Given the description of an element on the screen output the (x, y) to click on. 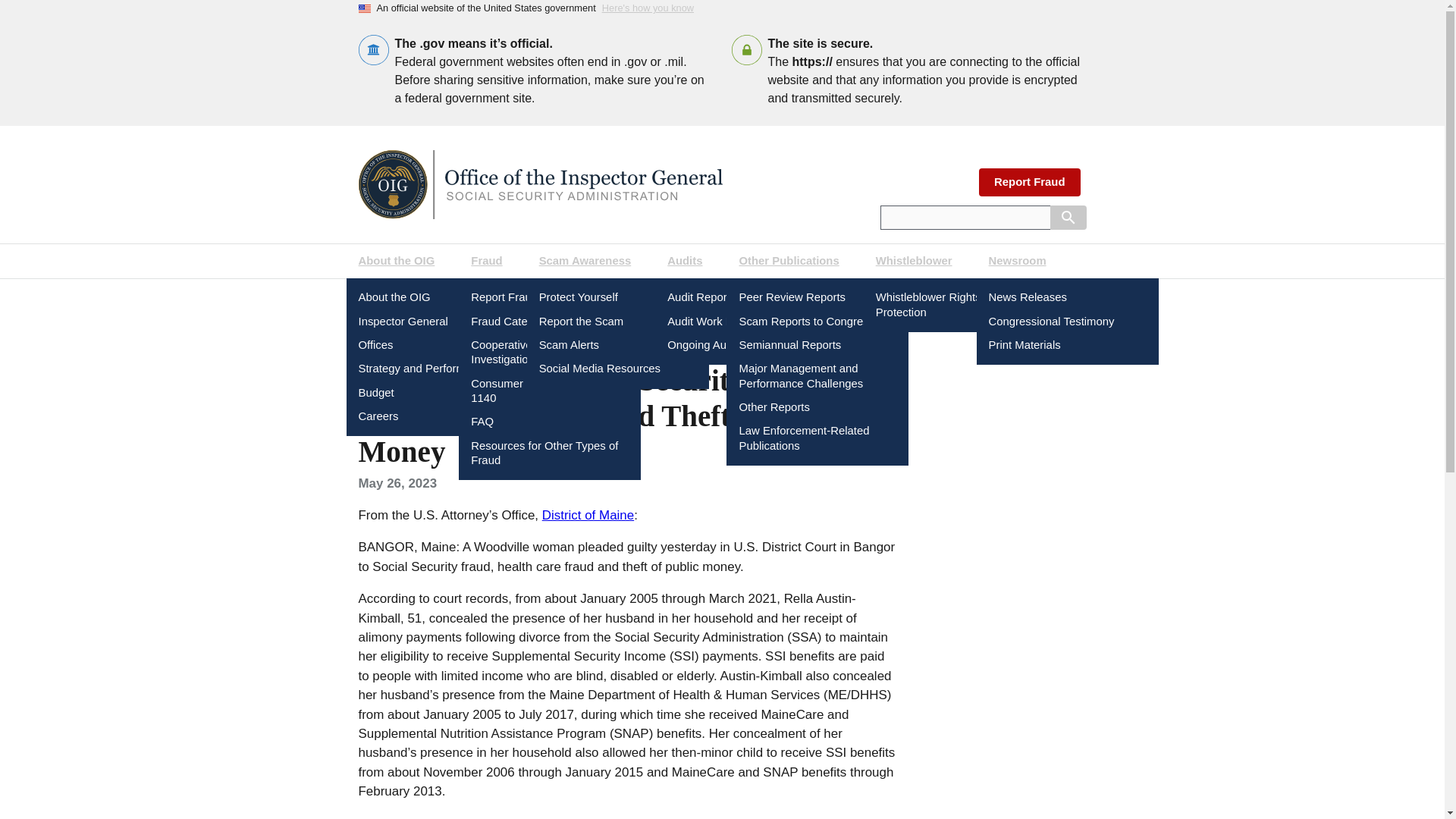
Here's how you know (648, 8)
Peer Review Reports (791, 297)
About the OIG (393, 297)
Major Management and Performance Challenges (800, 375)
Report the Scam (581, 321)
Budget (375, 392)
Social Media Resources (599, 368)
Semiannual Reports (789, 345)
Congressional Testimony (1051, 321)
Newsroom (1023, 261)
Cooperative Disability Investigations (524, 352)
FAQ (481, 421)
About the OIG (402, 261)
Whistleblower (919, 261)
Audits (690, 261)
